Given the description of an element on the screen output the (x, y) to click on. 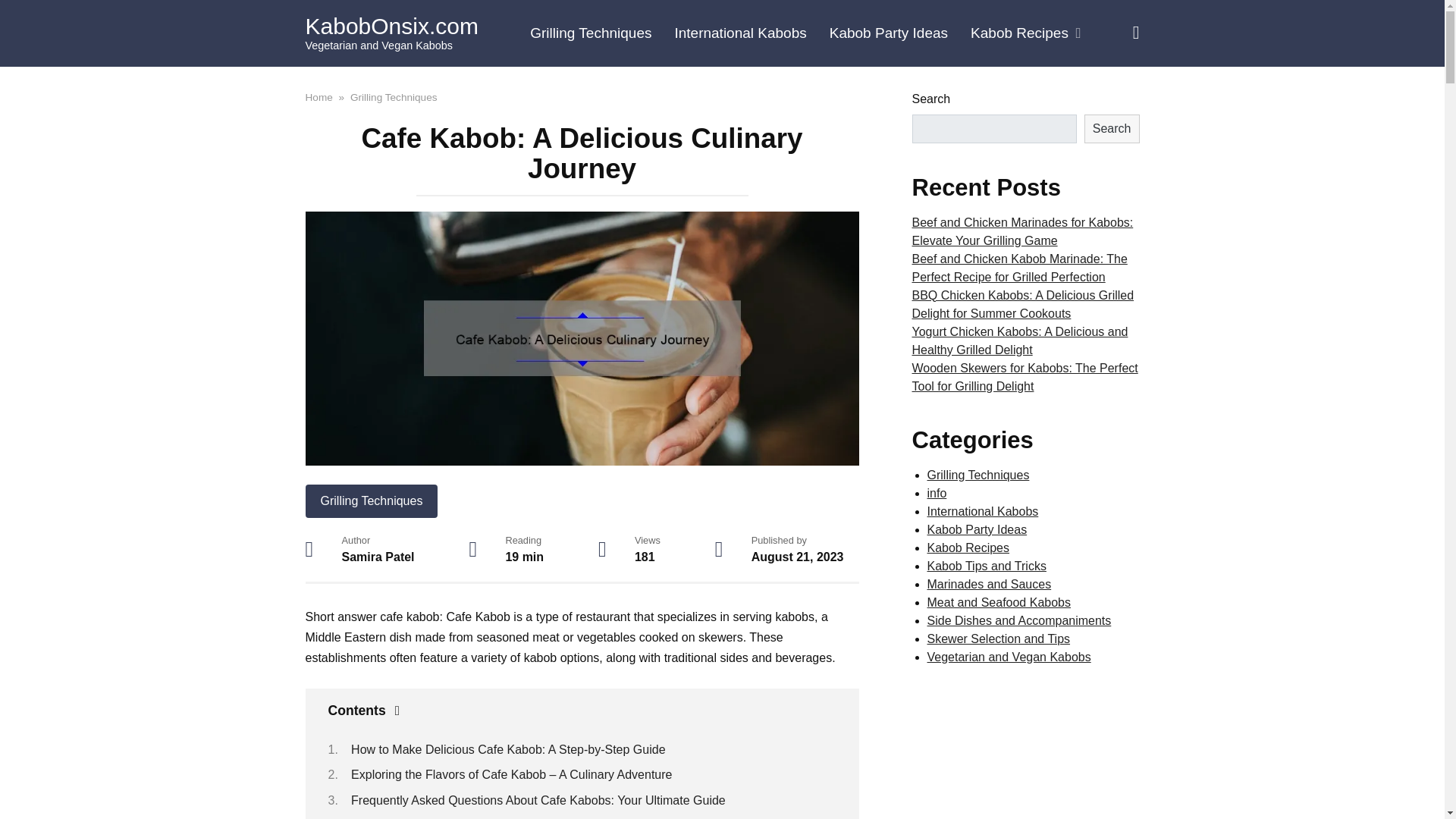
Kabob Party Ideas (888, 33)
International Kabobs (739, 33)
Grilling Techniques (394, 96)
Grilling Techniques (371, 500)
How to Make Delicious Cafe Kabob: A Step-by-Step Guide (507, 748)
Kabob Recipes (1025, 33)
Home (317, 96)
KabobOnsix.com (390, 25)
Grilling Techniques (590, 33)
